Given the description of an element on the screen output the (x, y) to click on. 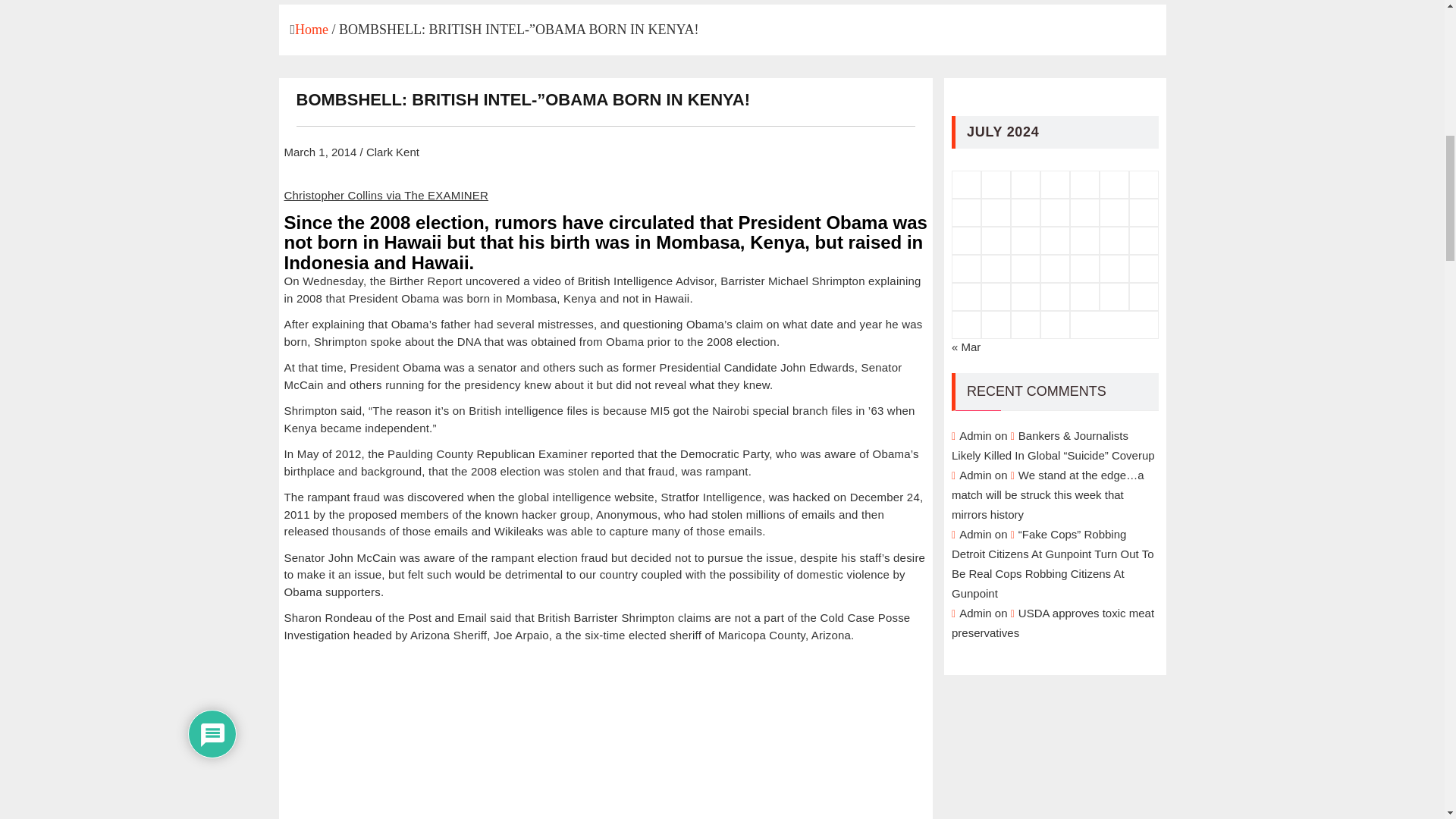
Monday (995, 184)
Sunday (966, 184)
Tuesday (1025, 184)
Posts by Clark Kent (392, 151)
Wednesday (1055, 184)
Thursday (1084, 184)
